Given the description of an element on the screen output the (x, y) to click on. 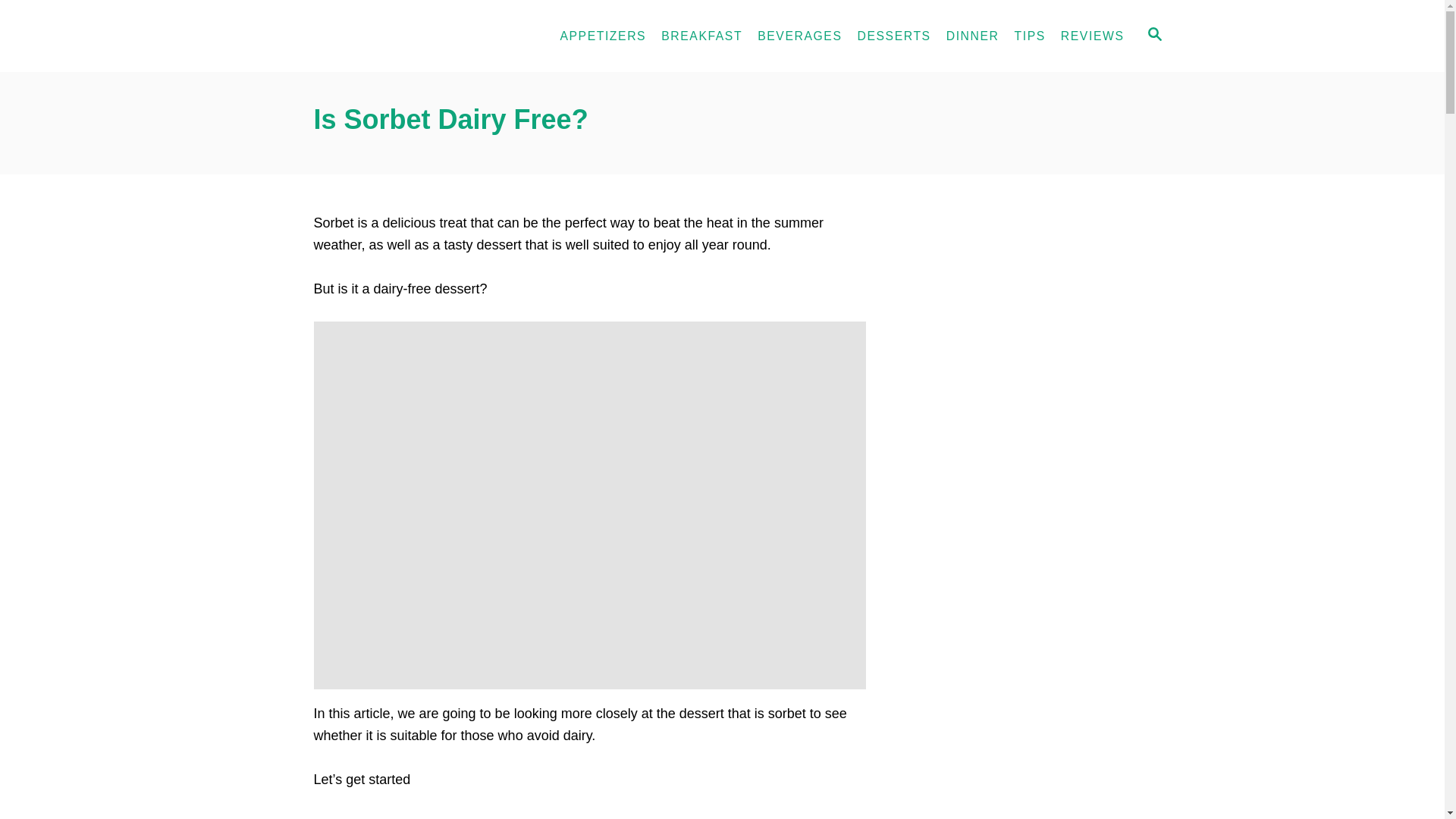
Kitchenarry (394, 36)
DINNER (973, 36)
BREAKFAST (701, 36)
APPETIZERS (602, 36)
SEARCH (1154, 35)
REVIEWS (1092, 36)
TIPS (1029, 36)
BEVERAGES (798, 36)
DESSERTS (892, 36)
